Given the description of an element on the screen output the (x, y) to click on. 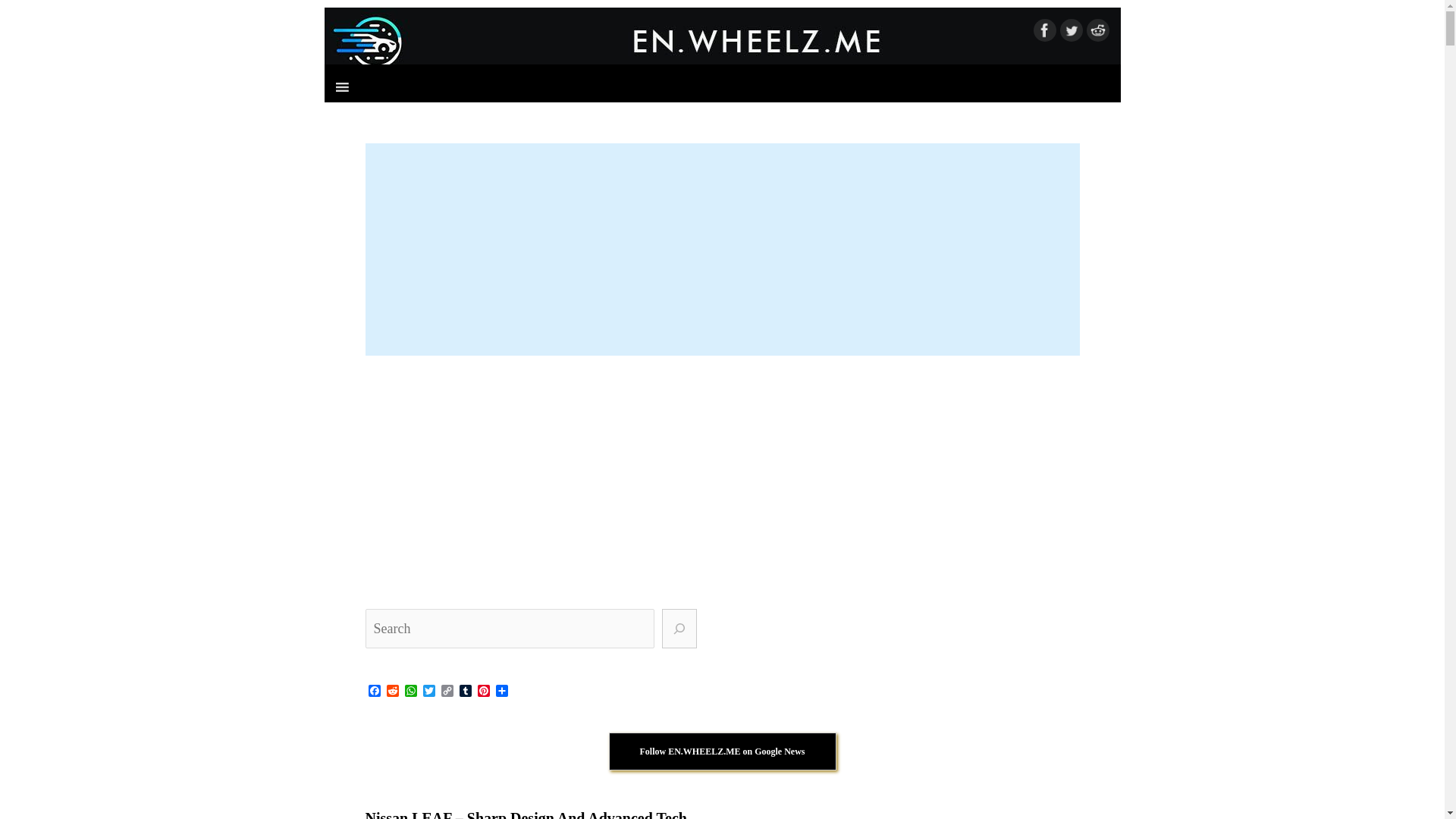
Copy Link (447, 691)
Follow EN.WHEELZ.ME on Google News (721, 751)
Facebook (374, 691)
Tumblr (465, 691)
Facebook (374, 691)
Pinterest (483, 691)
WhatsApp (410, 691)
EN.WHEELZ.ME (722, 41)
Reddit (392, 691)
Reddit (392, 691)
